Given the description of an element on the screen output the (x, y) to click on. 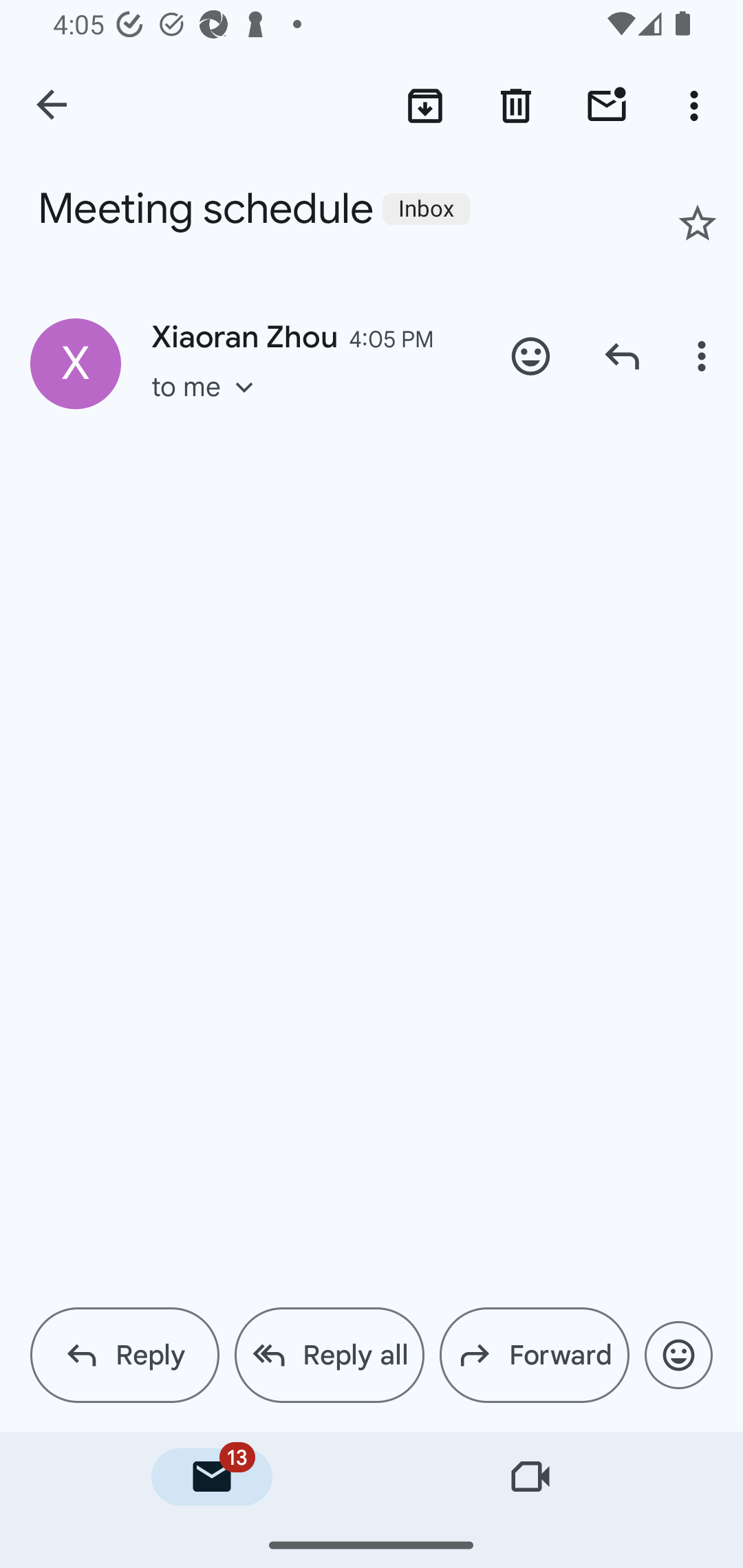
Navigate up (53, 105)
Archive (424, 105)
Delete (515, 105)
Mark unread (606, 105)
More options (697, 105)
Add star (697, 223)
Add emoji reaction (530, 355)
Reply (621, 355)
More options (705, 355)
Show contact information for Xiaoran Zhou (75, 363)
to me (208, 405)
Reply (124, 1355)
Reply all (329, 1355)
Forward (534, 1355)
Add emoji reaction (678, 1355)
Meet (530, 1476)
